Given the description of an element on the screen output the (x, y) to click on. 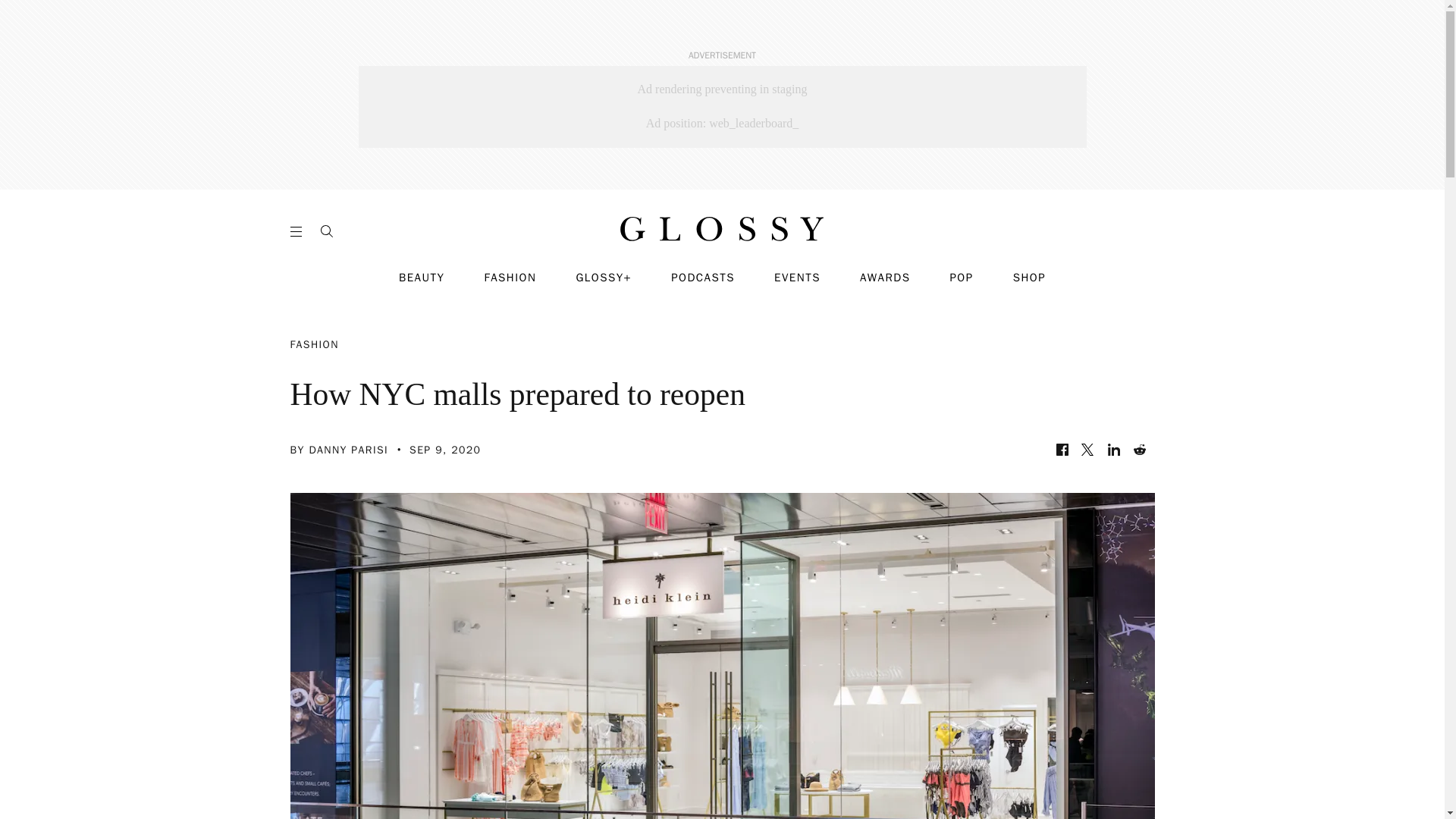
SHOP (1029, 277)
BEAUTY (421, 277)
POP (960, 277)
EVENTS (797, 277)
AWARDS (885, 277)
PODCASTS (703, 277)
FASHION (509, 277)
